Given the description of an element on the screen output the (x, y) to click on. 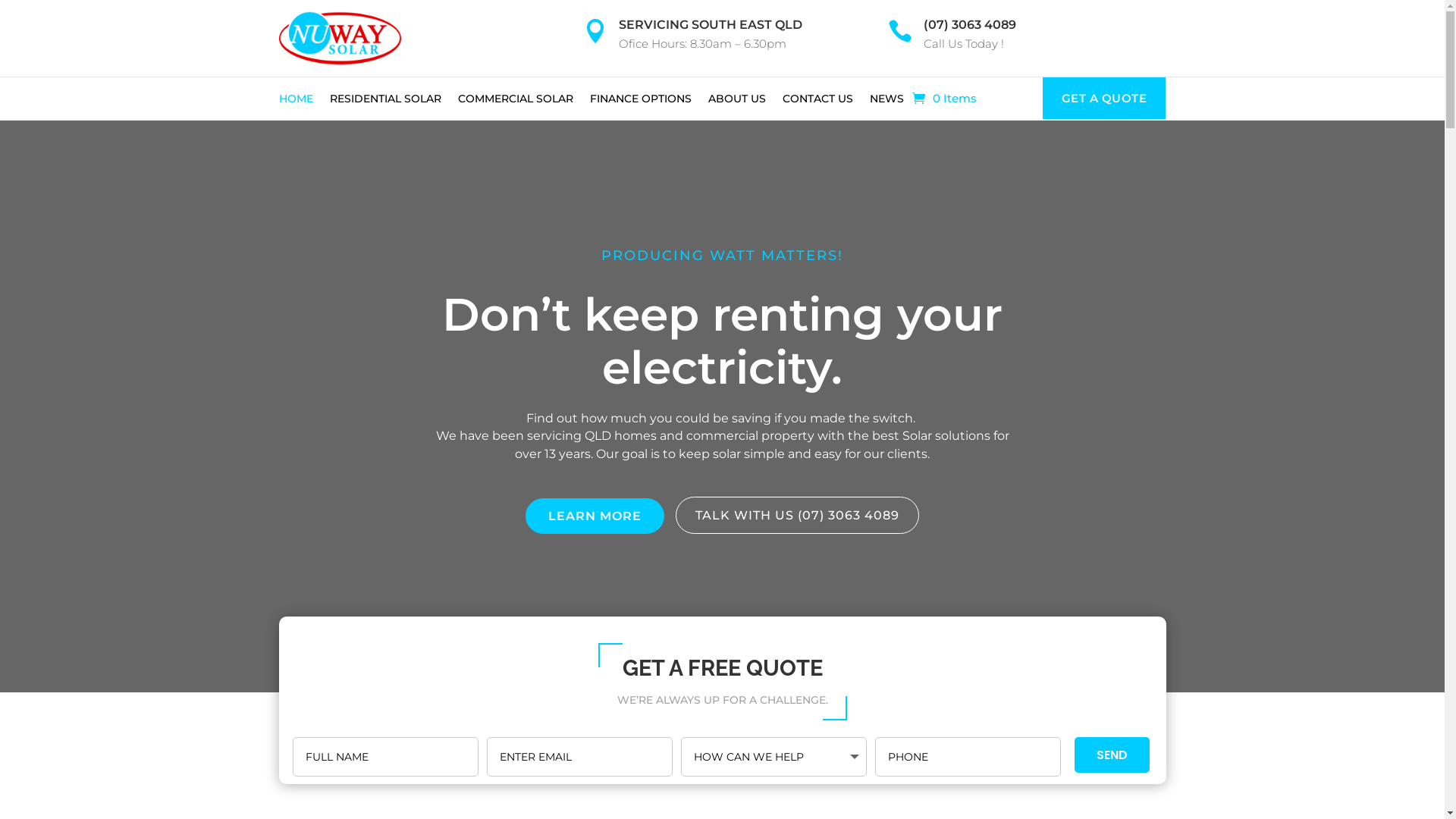
HOME Element type: text (296, 101)
0 Items Element type: text (943, 98)
FINANCE OPTIONS Element type: text (640, 101)
SEND Element type: text (1110, 754)
CONTACT US Element type: text (817, 101)
ABOUT US Element type: text (736, 101)
COMMERCIAL SOLAR Element type: text (515, 101)
GET A QUOTE Element type: text (1104, 98)
Only numbers allowed. Element type: hover (967, 756)
(07) 3063 4089 Element type: text (969, 24)
NEWS Element type: text (886, 101)
LEARN MORE Element type: text (594, 515)
RESIDENTIAL SOLAR Element type: text (384, 101)
TALK WITH US (07) 3063 4089 Element type: text (797, 514)
NuWay Logo WEB Element type: hover (340, 38)
